Given the description of an element on the screen output the (x, y) to click on. 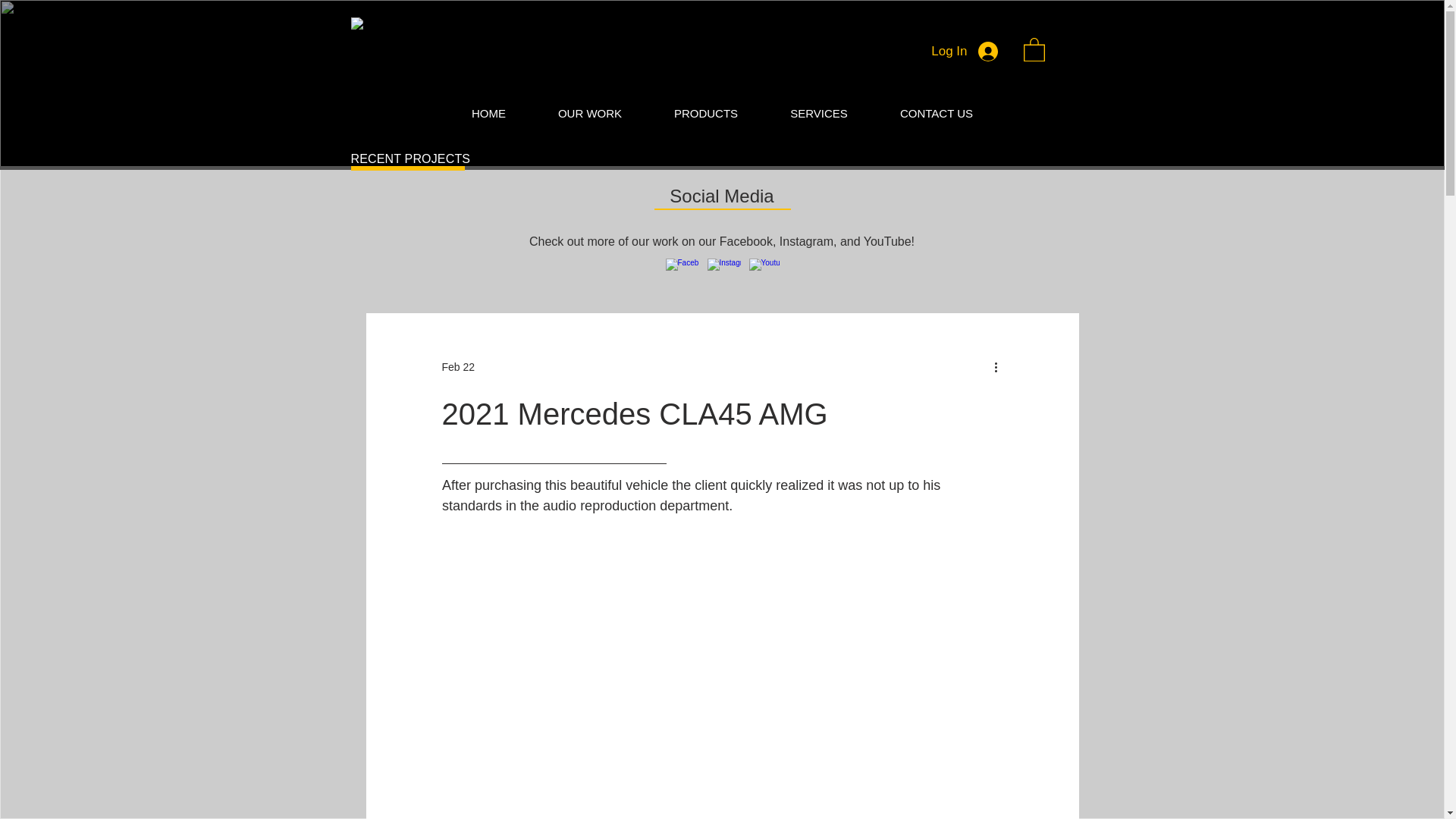
OUR WORK (589, 113)
CONTACT US (935, 113)
PRODUCTS (704, 113)
SERVICES (819, 113)
HOME (488, 113)
Feb 22 (457, 367)
Log In (963, 51)
